Given the description of an element on the screen output the (x, y) to click on. 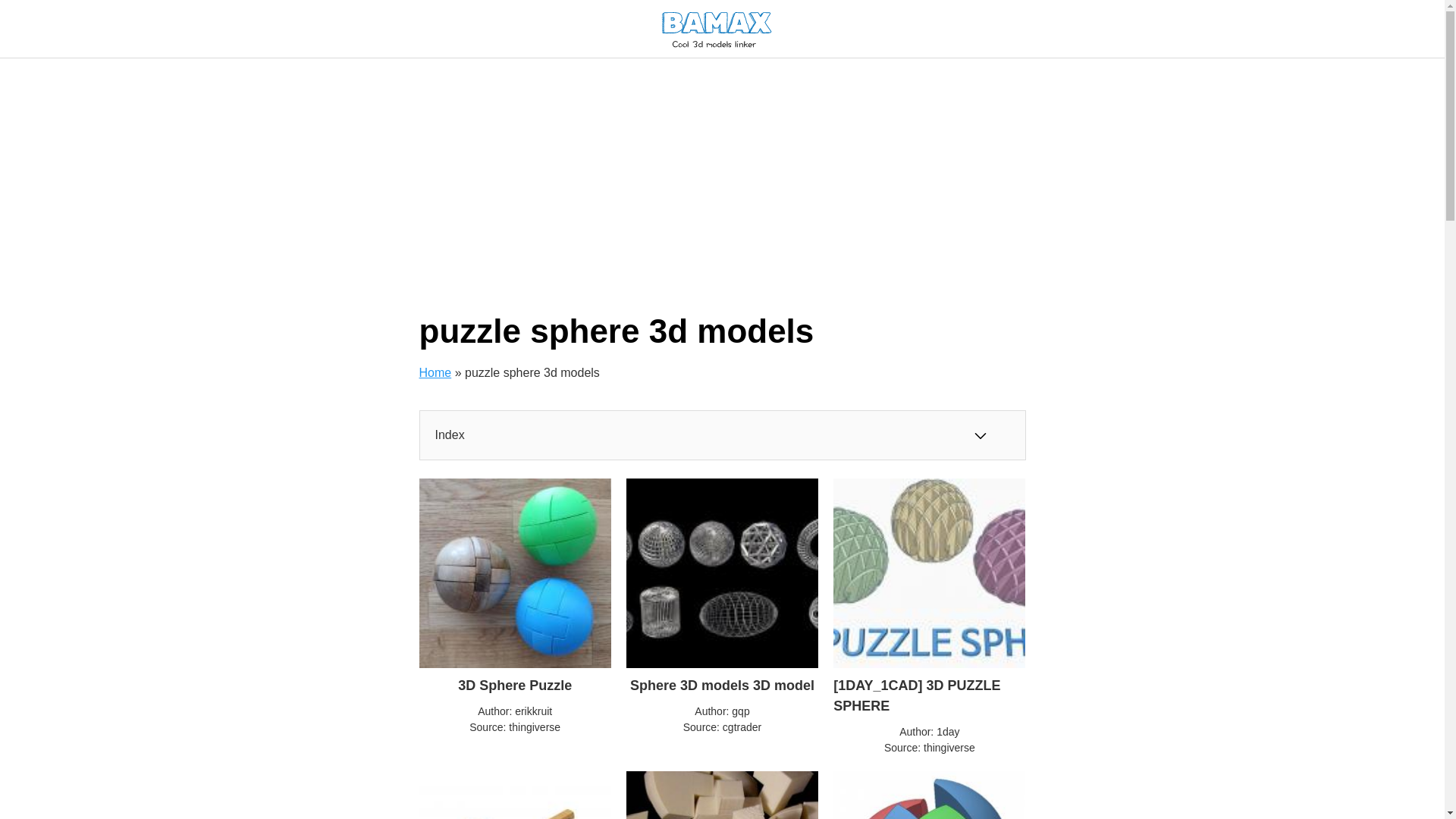
Home (435, 372)
